Given the description of an element on the screen output the (x, y) to click on. 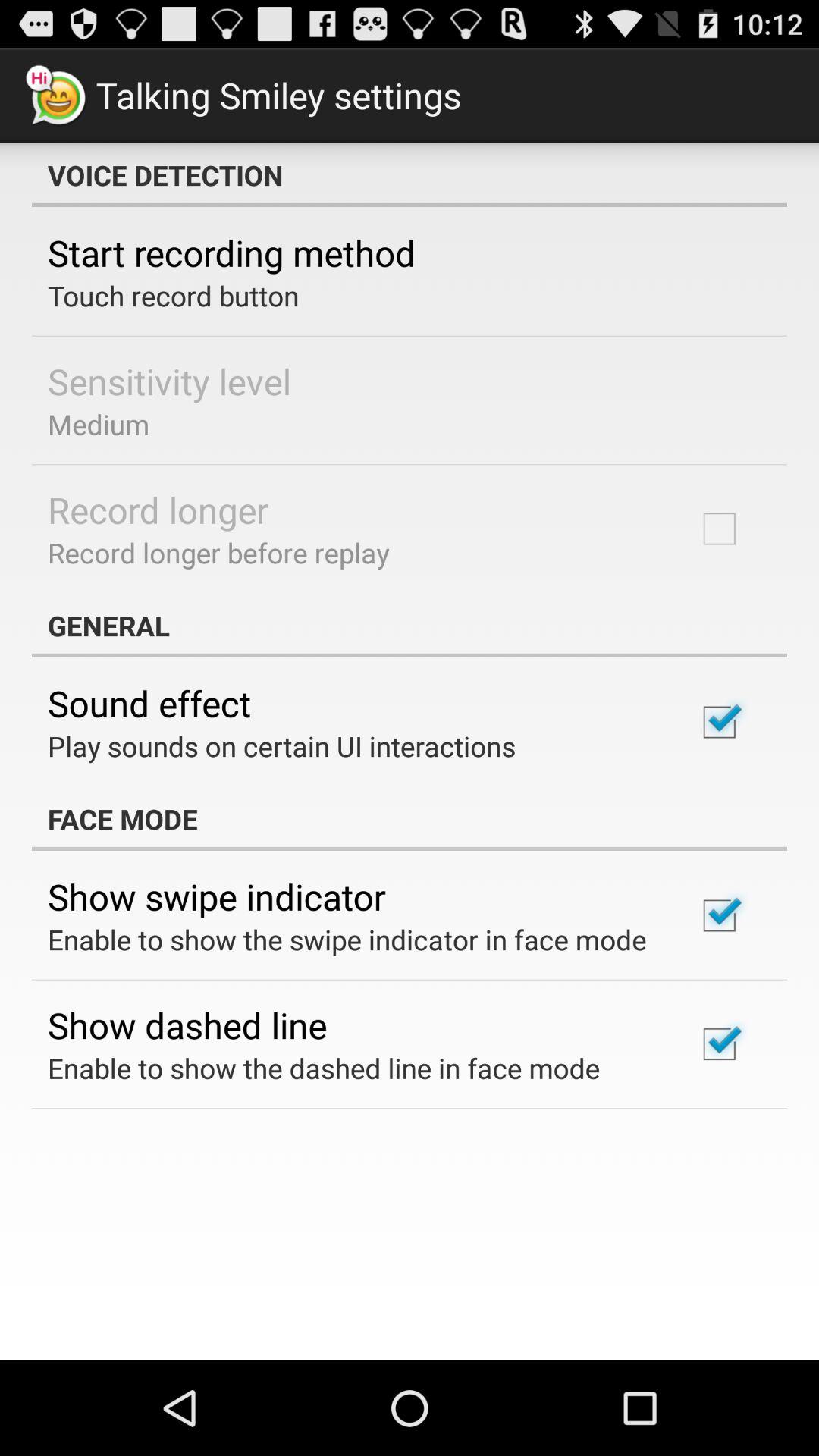
turn off icon below voice detection item (231, 252)
